Given the description of an element on the screen output the (x, y) to click on. 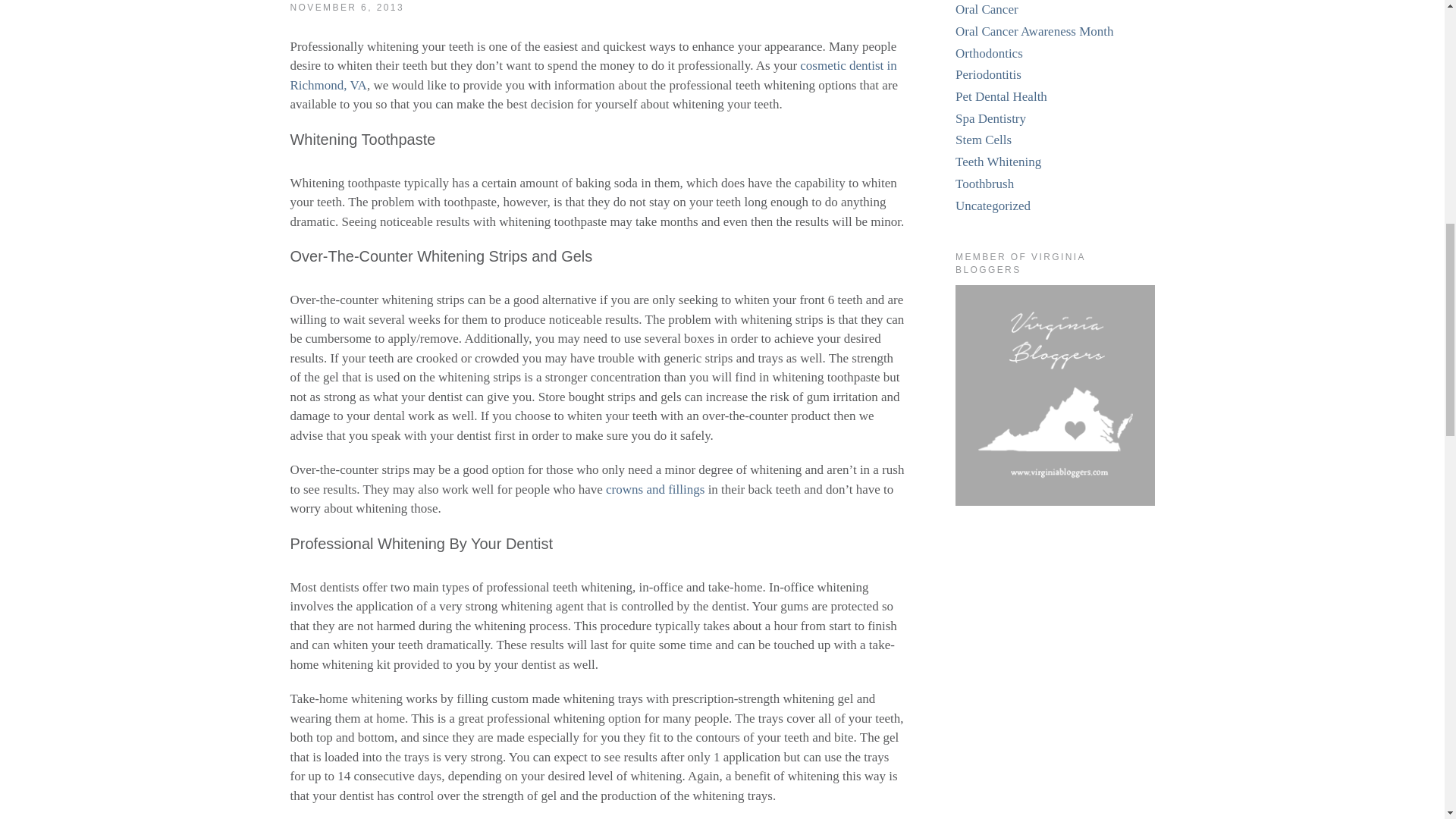
dental crowns and fillings (654, 489)
